Given the description of an element on the screen output the (x, y) to click on. 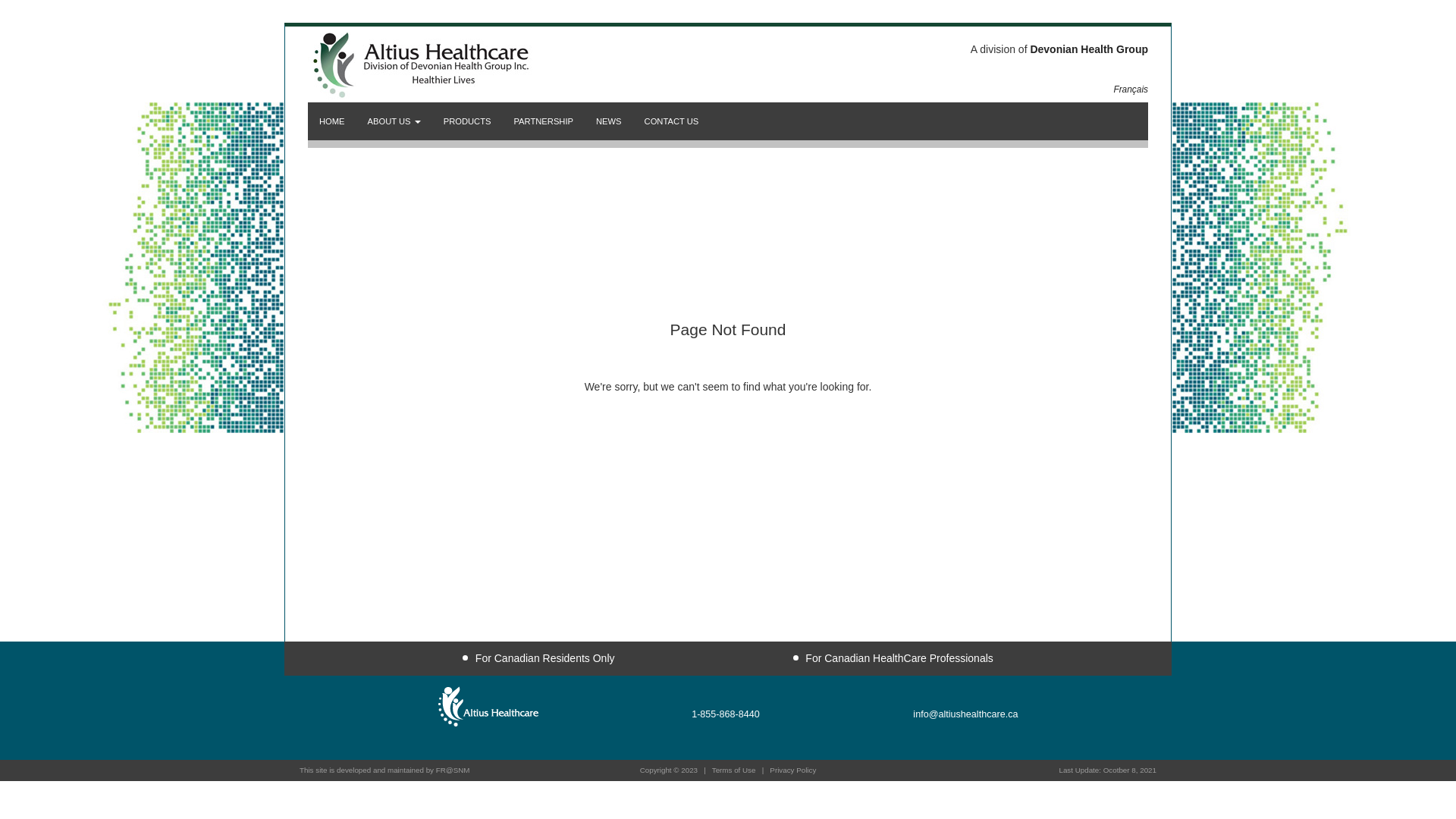
Terms of Use Element type: text (734, 769)
FR@SNM Element type: text (453, 769)
CONTACT US Element type: text (671, 121)
PRODUCTS Element type: text (467, 121)
info@altiushealthcare.ca Element type: text (965, 714)
For Canadian HealthCare Professionals Element type: text (893, 658)
Devonian Health Group Element type: text (1088, 49)
1-855-868-8440 Element type: text (725, 714)
For Canadian Residents Only Element type: text (538, 658)
ABOUT US Element type: text (394, 121)
PARTNERSHIP Element type: text (543, 121)
HOME Element type: text (331, 121)
NEWS Element type: text (608, 121)
Privacy Policy Element type: text (792, 769)
